Given the description of an element on the screen output the (x, y) to click on. 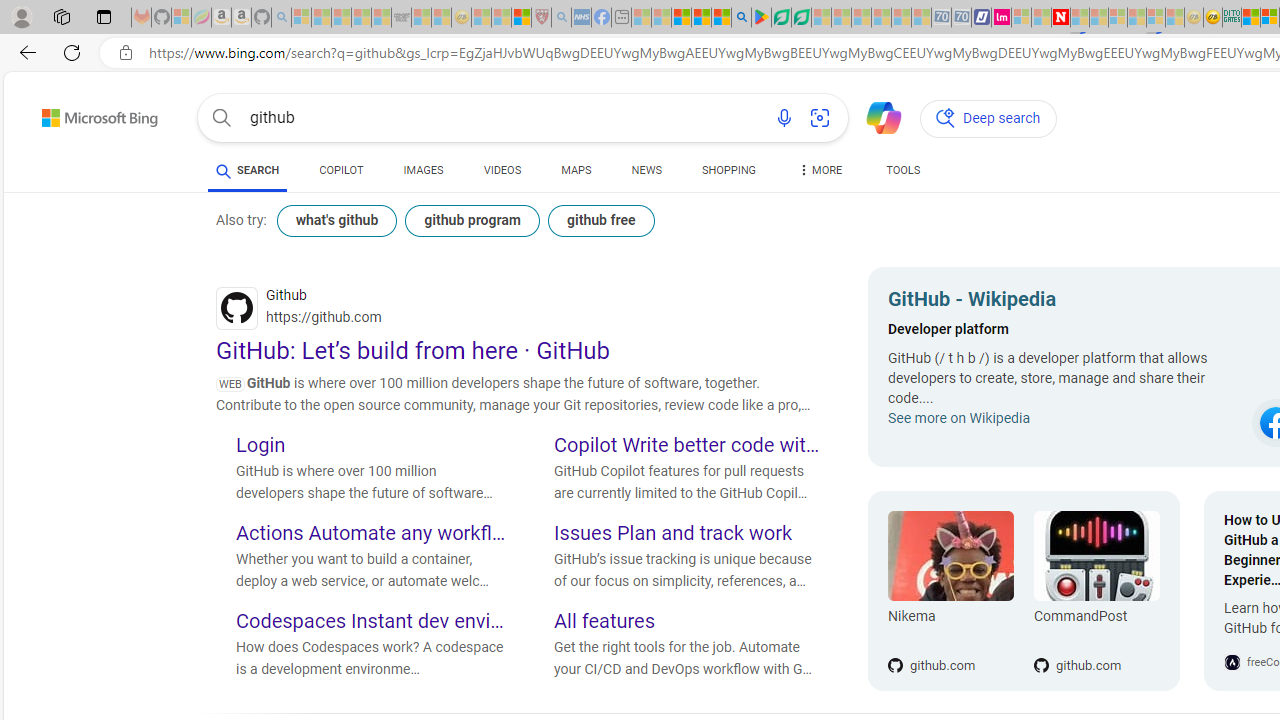
what's github (336, 220)
Latest Politics News & Archive | Newsweek.com (1061, 17)
Actions Automate any workflow (370, 534)
what's github (337, 220)
